Given the description of an element on the screen output the (x, y) to click on. 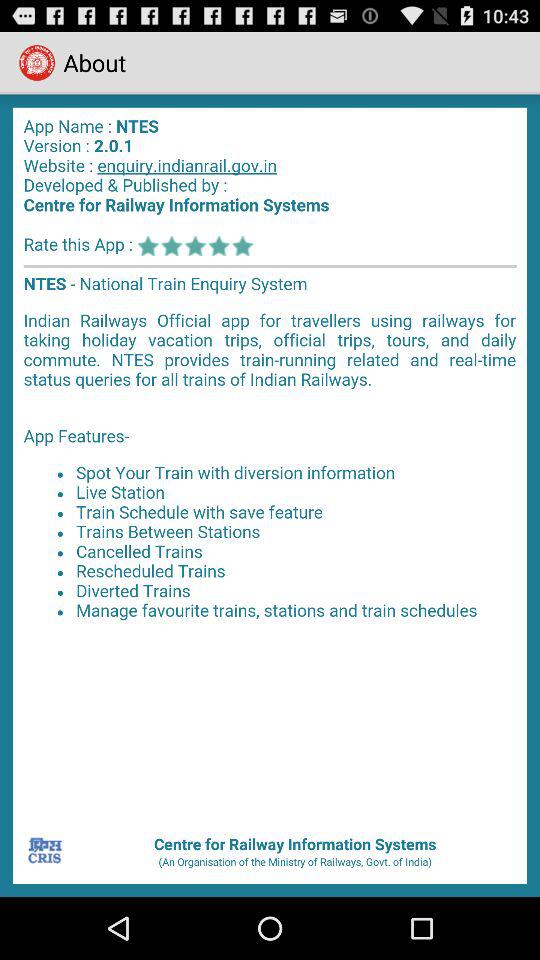
content display field (269, 462)
